Given the description of an element on the screen output the (x, y) to click on. 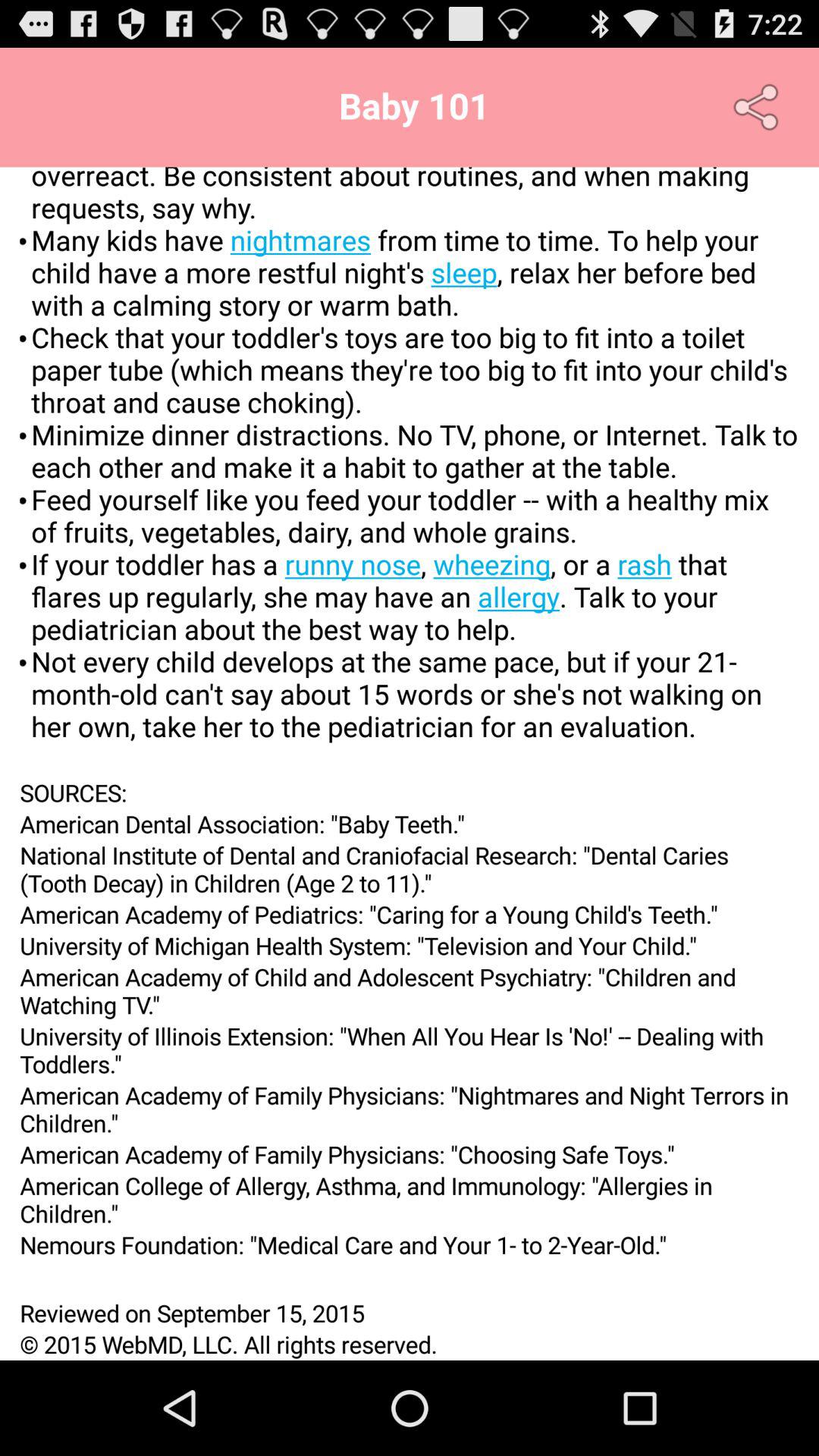
turn off icon above national institute of (409, 824)
